Given the description of an element on the screen output the (x, y) to click on. 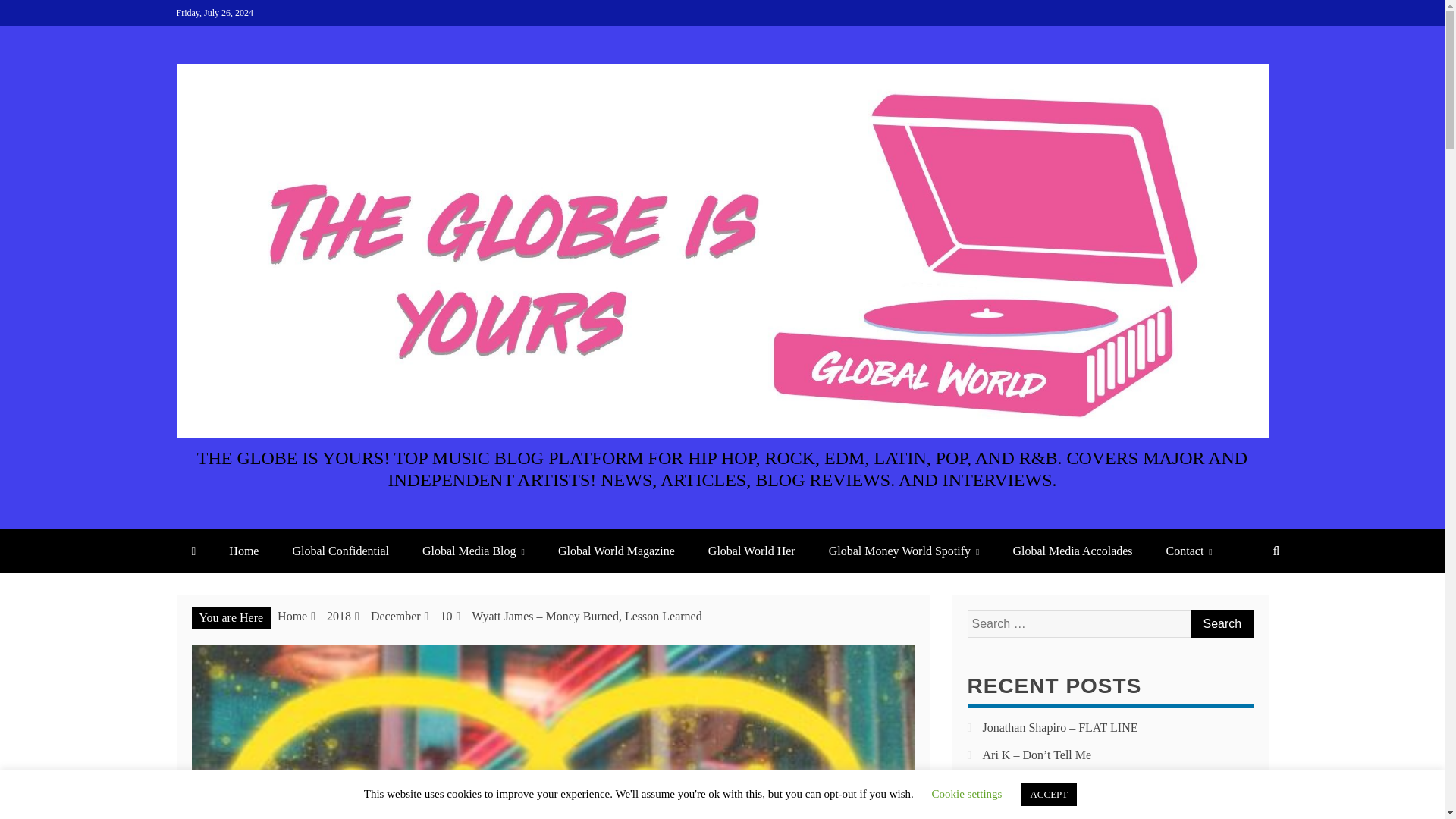
Global Media Accolades (1072, 550)
Global Confidential (340, 550)
Global Media Blog (473, 550)
Search (1221, 624)
December (395, 615)
Home (292, 615)
Global Money World Spotify (903, 550)
Global World Her (751, 550)
2018 (338, 615)
Contact (1189, 550)
10 (445, 615)
Home (243, 550)
Global World Magazine (616, 550)
Search (1221, 624)
